Given the description of an element on the screen output the (x, y) to click on. 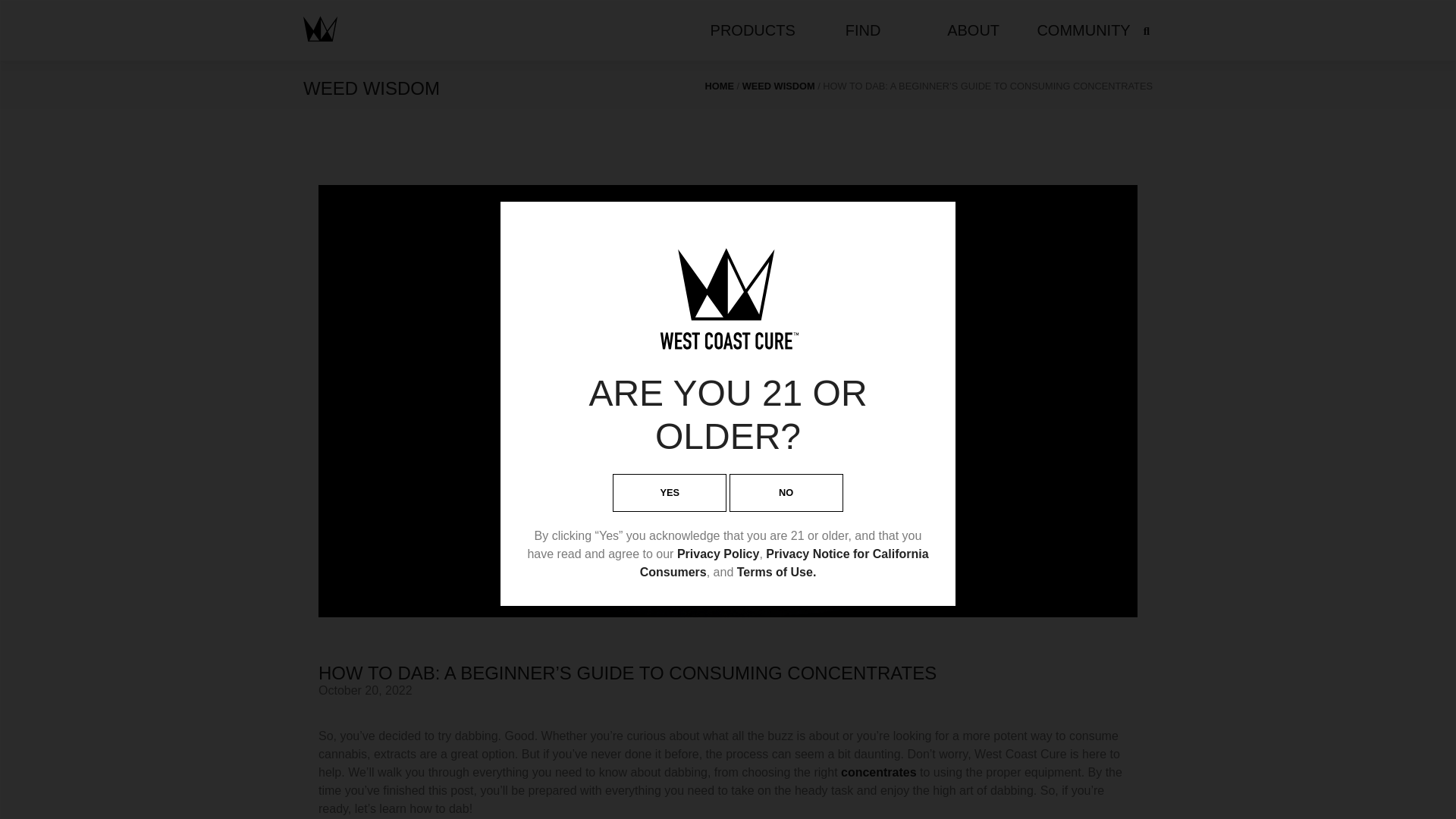
COMMUNITY (1082, 30)
WEED WISDOM (778, 85)
HOME (718, 85)
FIND (862, 30)
ABOUT (972, 30)
October 20, 2022 (365, 690)
PRODUCTS (752, 30)
